Given the description of an element on the screen output the (x, y) to click on. 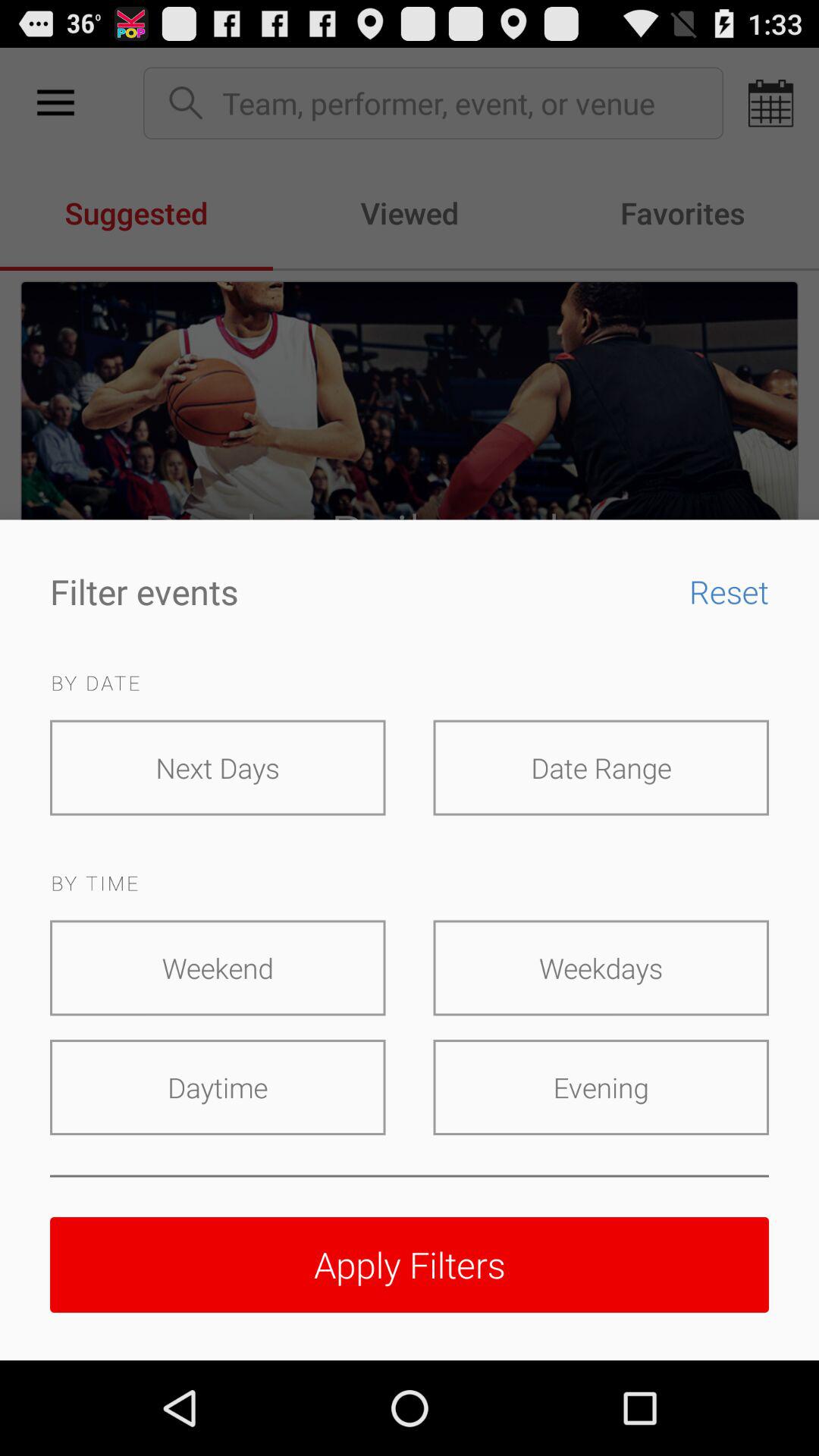
jump until date range item (600, 767)
